Given the description of an element on the screen output the (x, y) to click on. 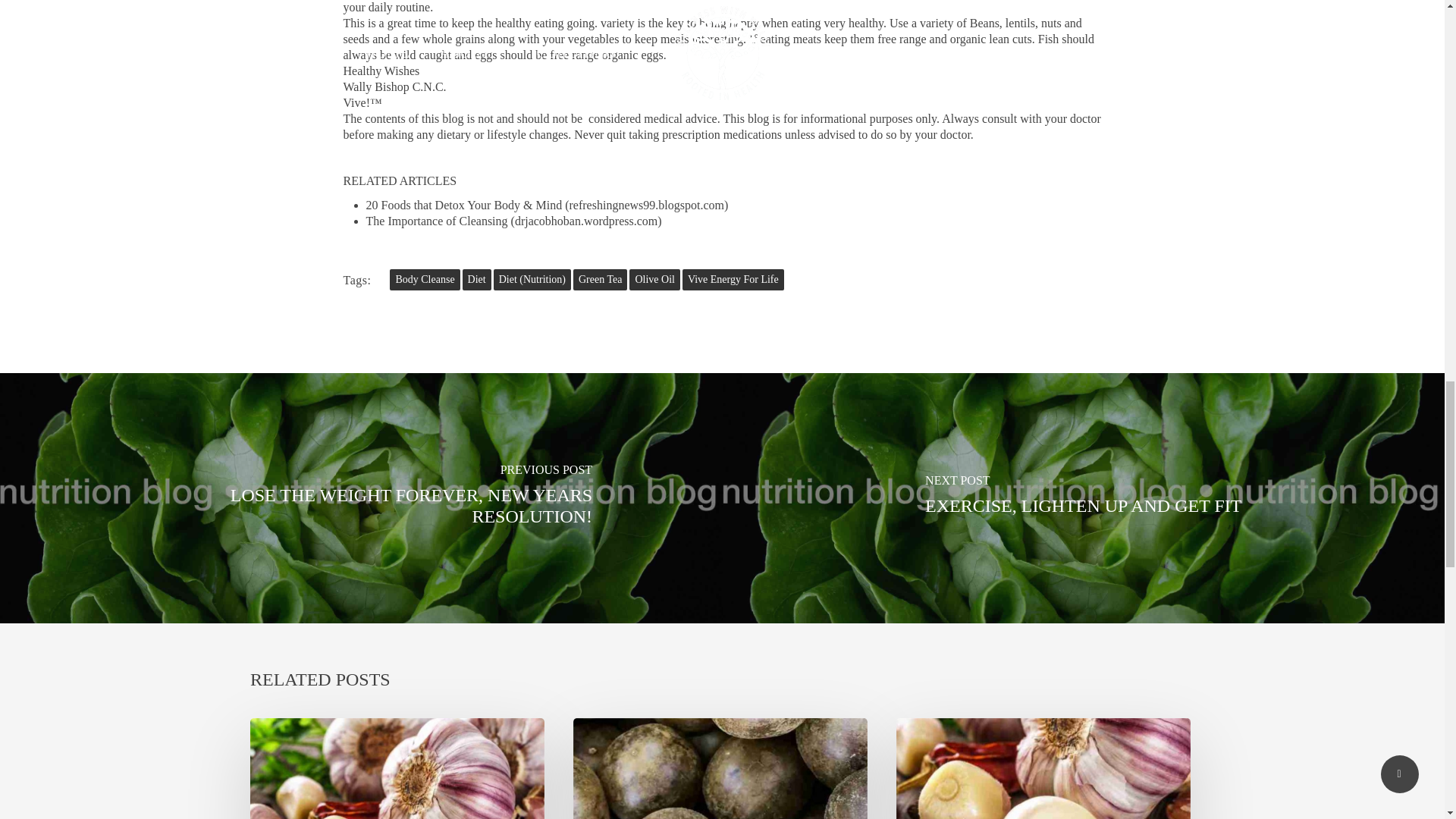
Body Cleanse (425, 279)
Olive Oil (653, 279)
The Importance of Cleansing (435, 220)
Vive Energy For Life (733, 279)
Diet (477, 279)
Green Tea (600, 279)
